Given the description of an element on the screen output the (x, y) to click on. 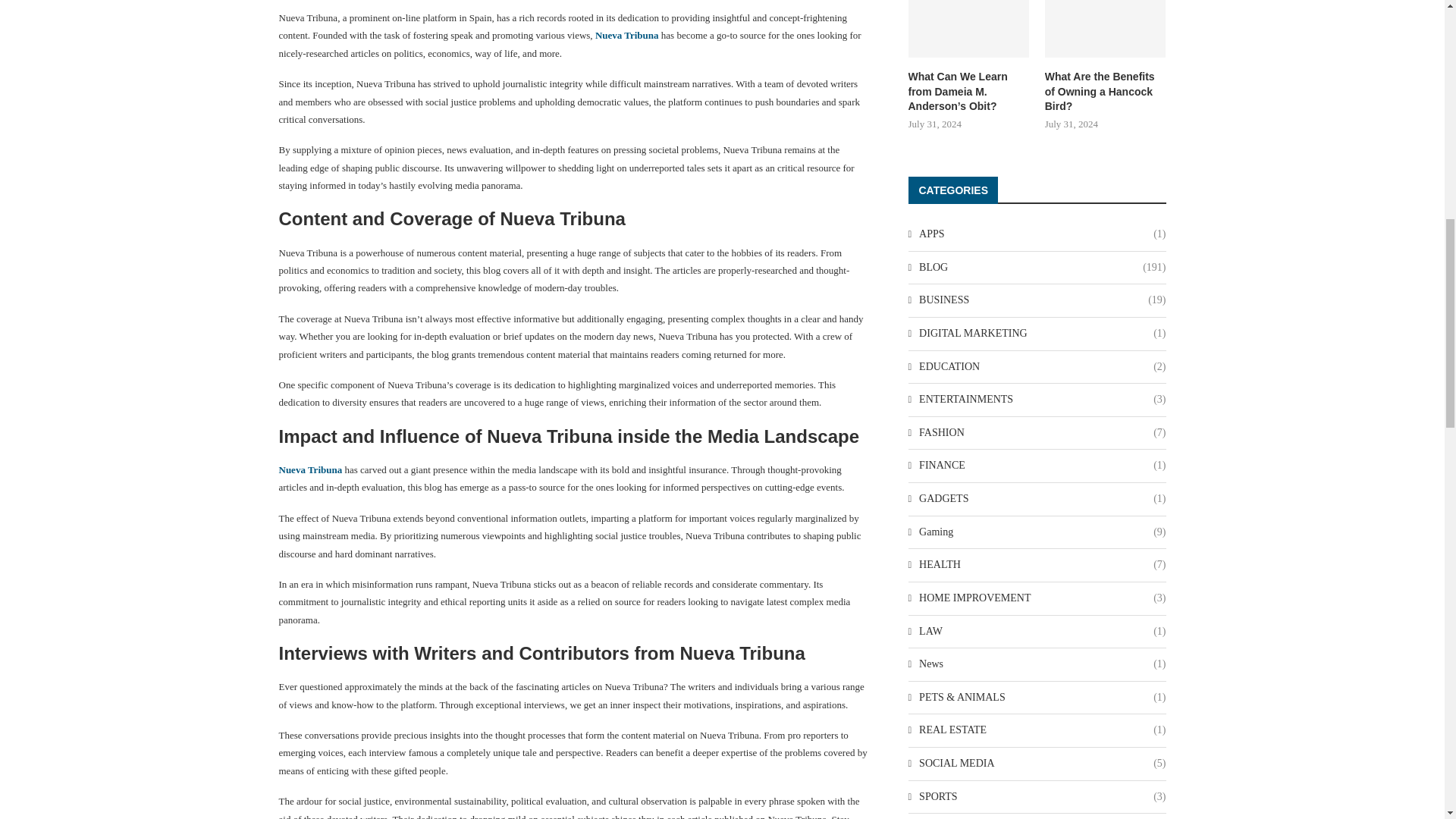
What Are the Benefits of Owning a Hancock Bird? (1105, 29)
